Given the description of an element on the screen output the (x, y) to click on. 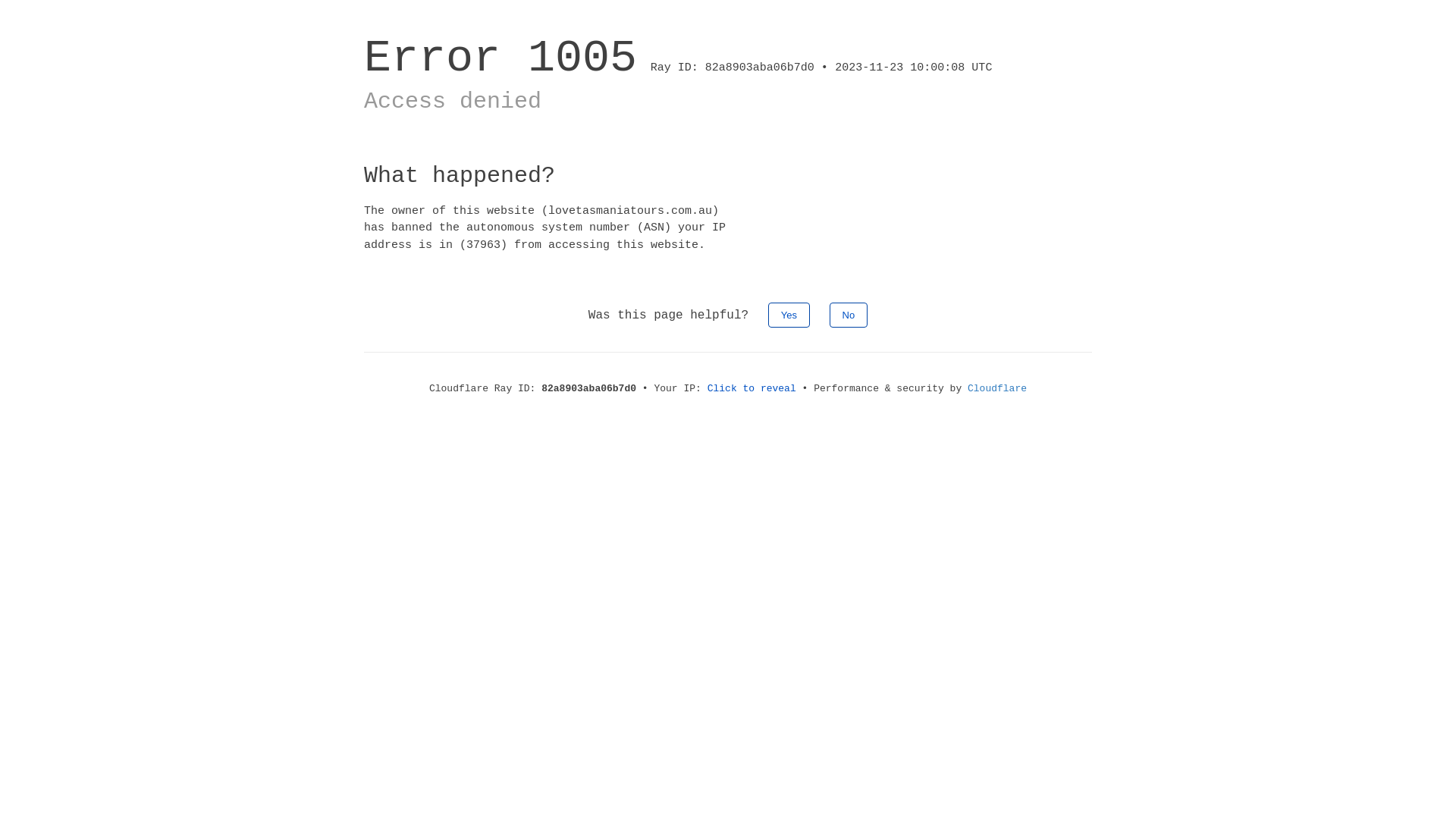
Cloudflare Element type: text (996, 388)
Yes Element type: text (788, 314)
Click to reveal Element type: text (751, 388)
No Element type: text (848, 314)
